Given the description of an element on the screen output the (x, y) to click on. 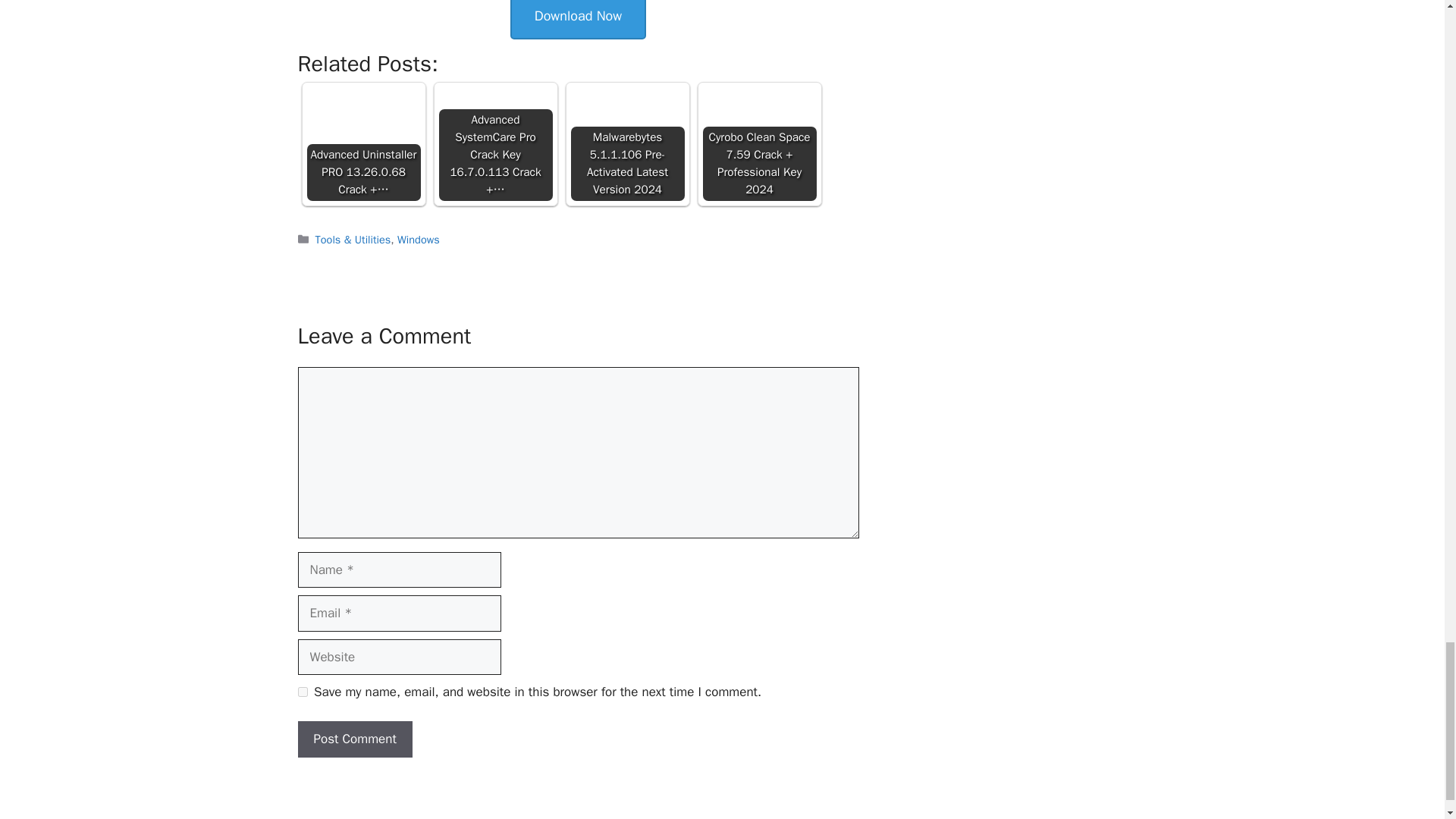
Download Now (578, 19)
yes (302, 691)
Post Comment (354, 739)
